Given the description of an element on the screen output the (x, y) to click on. 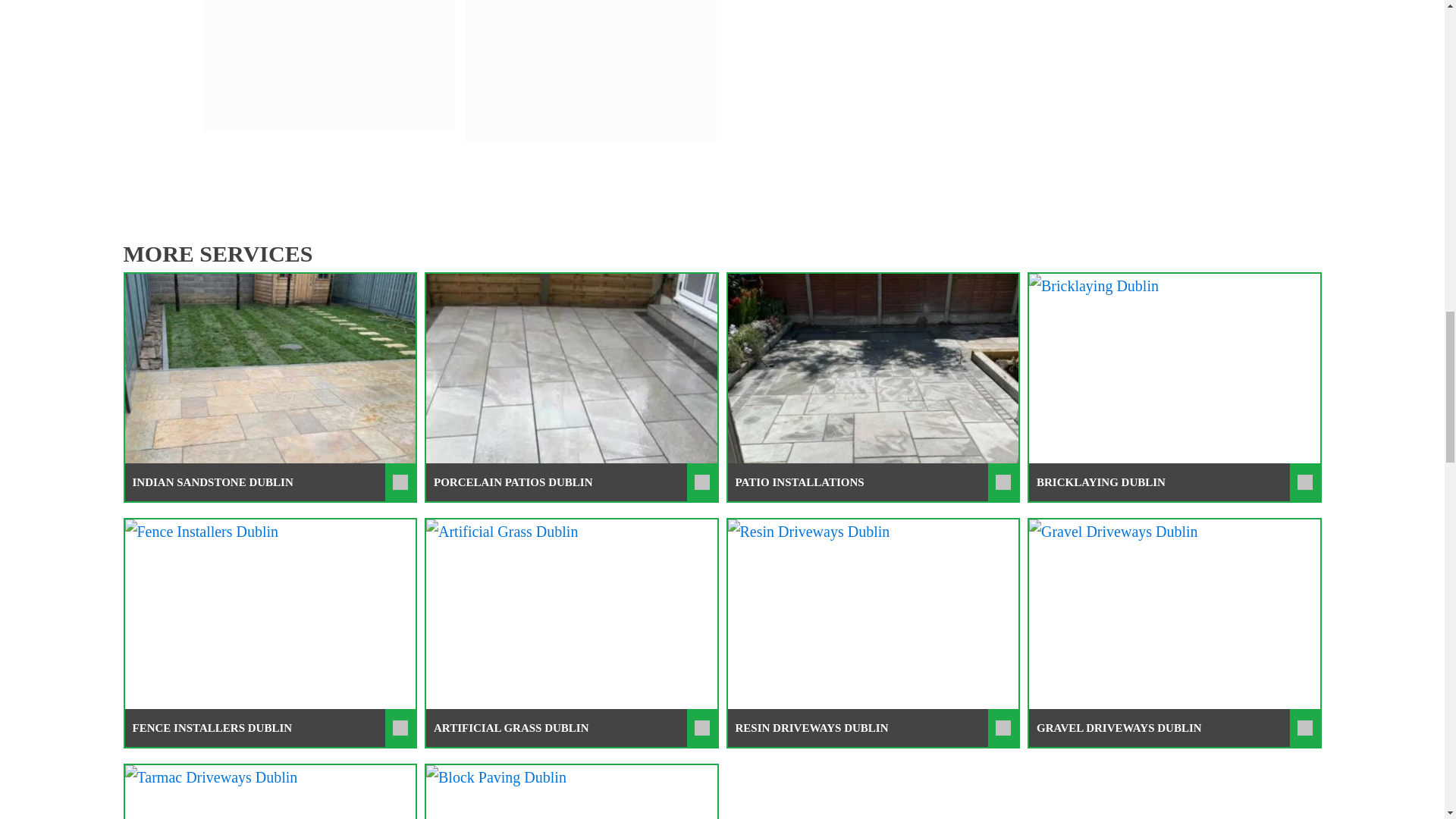
PATIO INSTALLATIONS (873, 482)
FENCE INSTALLERS DUBLIN (268, 727)
PORCELAIN PATIOS DUBLIN (571, 482)
ARTIFICIAL GRASS DUBLIN (571, 727)
INDIAN SANDSTONE DUBLIN (268, 482)
BRICKLAYING DUBLIN (1174, 482)
RESIN DRIVEWAYS DUBLIN (873, 727)
